Given the description of an element on the screen output the (x, y) to click on. 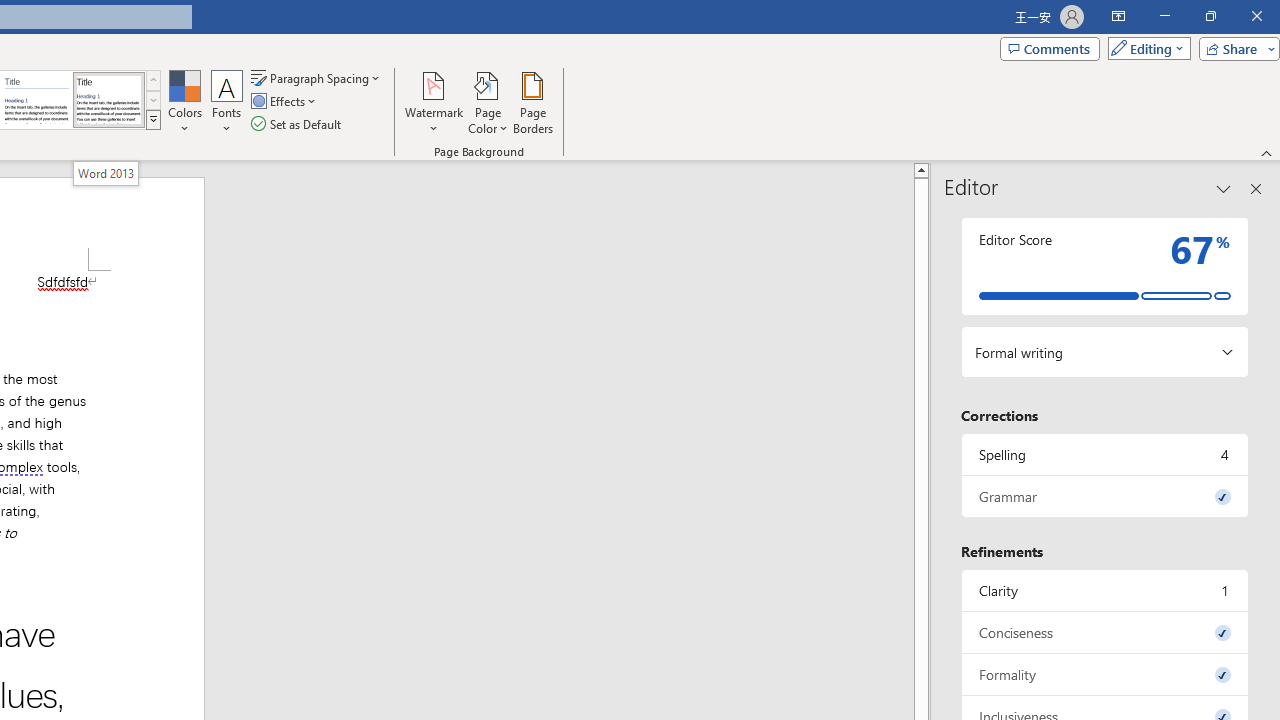
Set as Default (298, 124)
Watermark (434, 102)
Fonts (227, 102)
Word 2013 (108, 100)
Page Color (487, 102)
Clarity, 1 issue. Press space or enter to review items. (1105, 590)
Spelling, 4 issues. Press space or enter to review items. (1105, 454)
Word 2013 (105, 173)
Word 2010 (36, 100)
Row up (153, 79)
Page Borders... (532, 102)
